Given the description of an element on the screen output the (x, y) to click on. 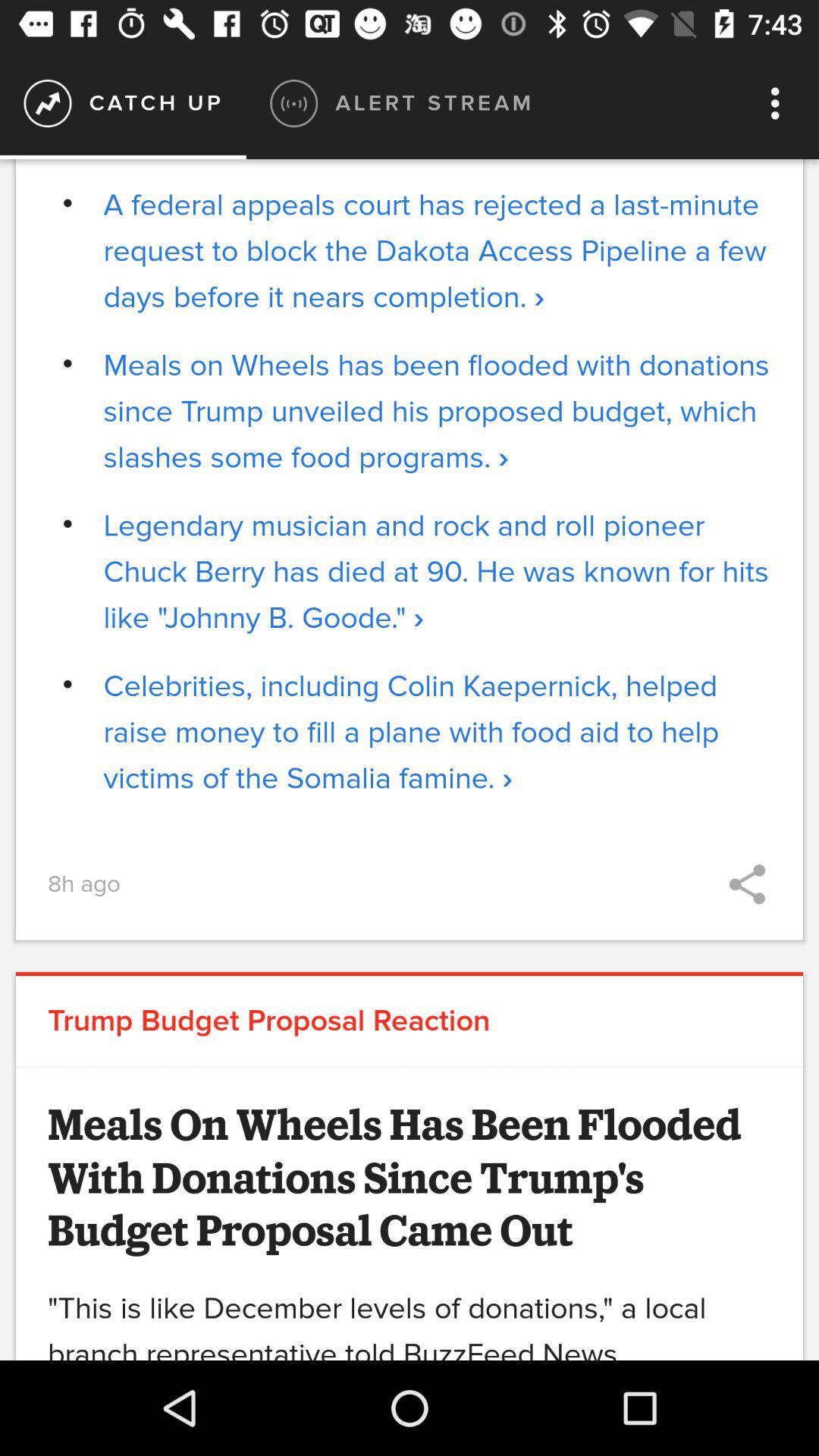
press a federal appeals (437, 251)
